Given the description of an element on the screen output the (x, y) to click on. 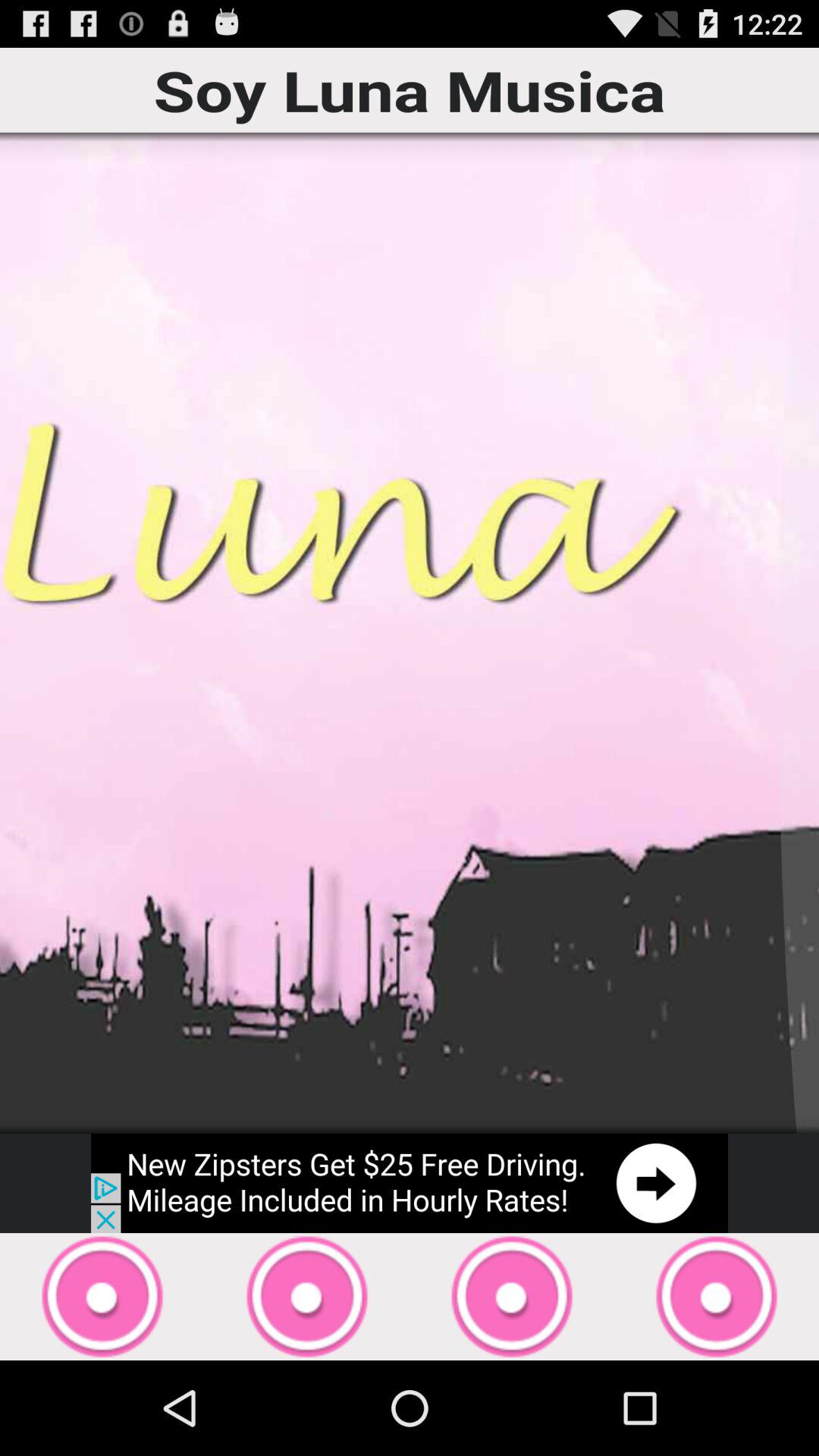
advertising (409, 1183)
